Given the description of an element on the screen output the (x, y) to click on. 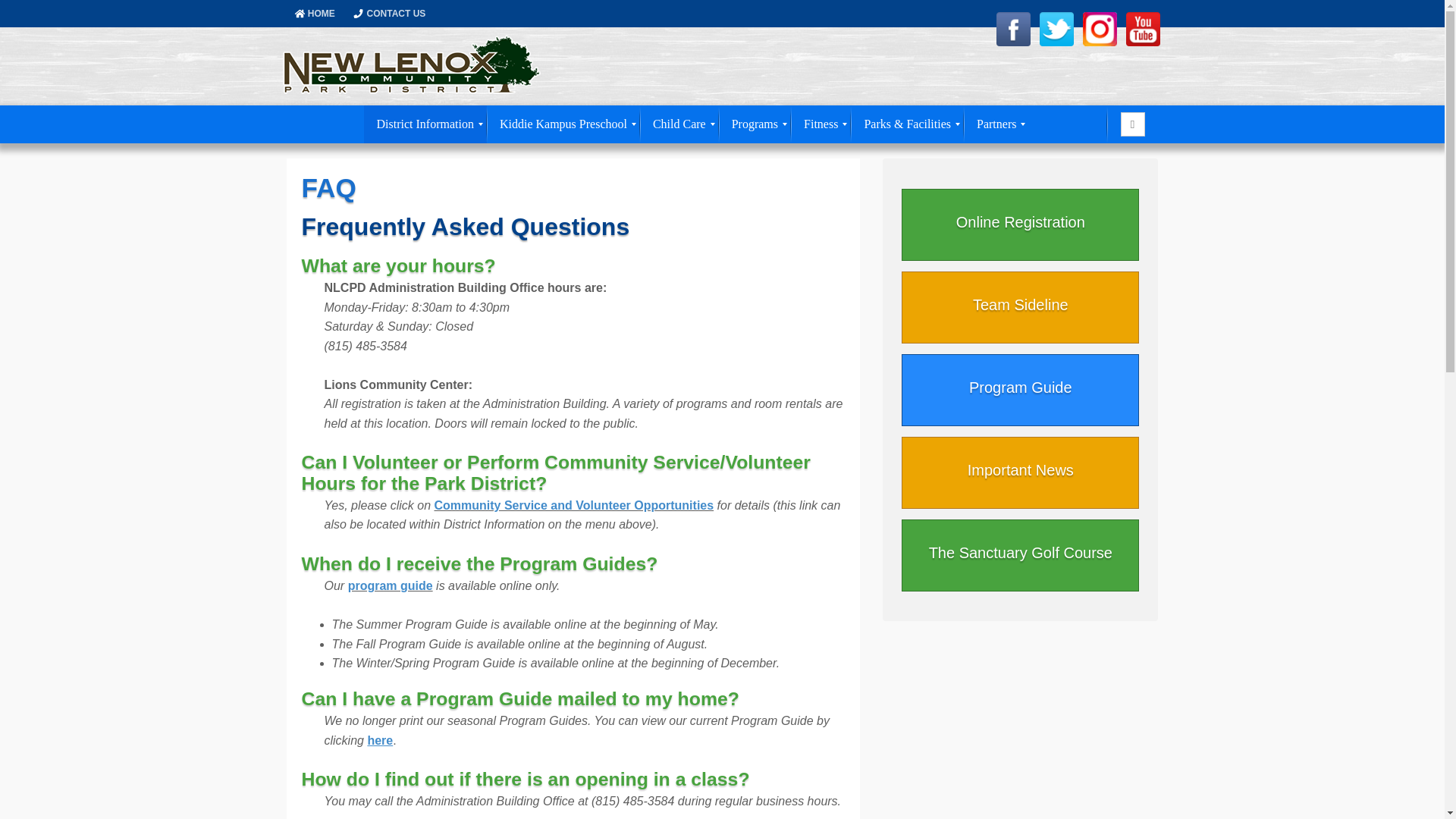
Twitter (1056, 28)
Search (1131, 124)
CONTACT US (396, 13)
Instagram (1099, 28)
New Lenox Community Park District (410, 65)
District Information (425, 124)
Facebook (1012, 28)
Youtube (1141, 28)
Kiddie Kampus Preschool (563, 124)
HOME (320, 13)
